Given the description of an element on the screen output the (x, y) to click on. 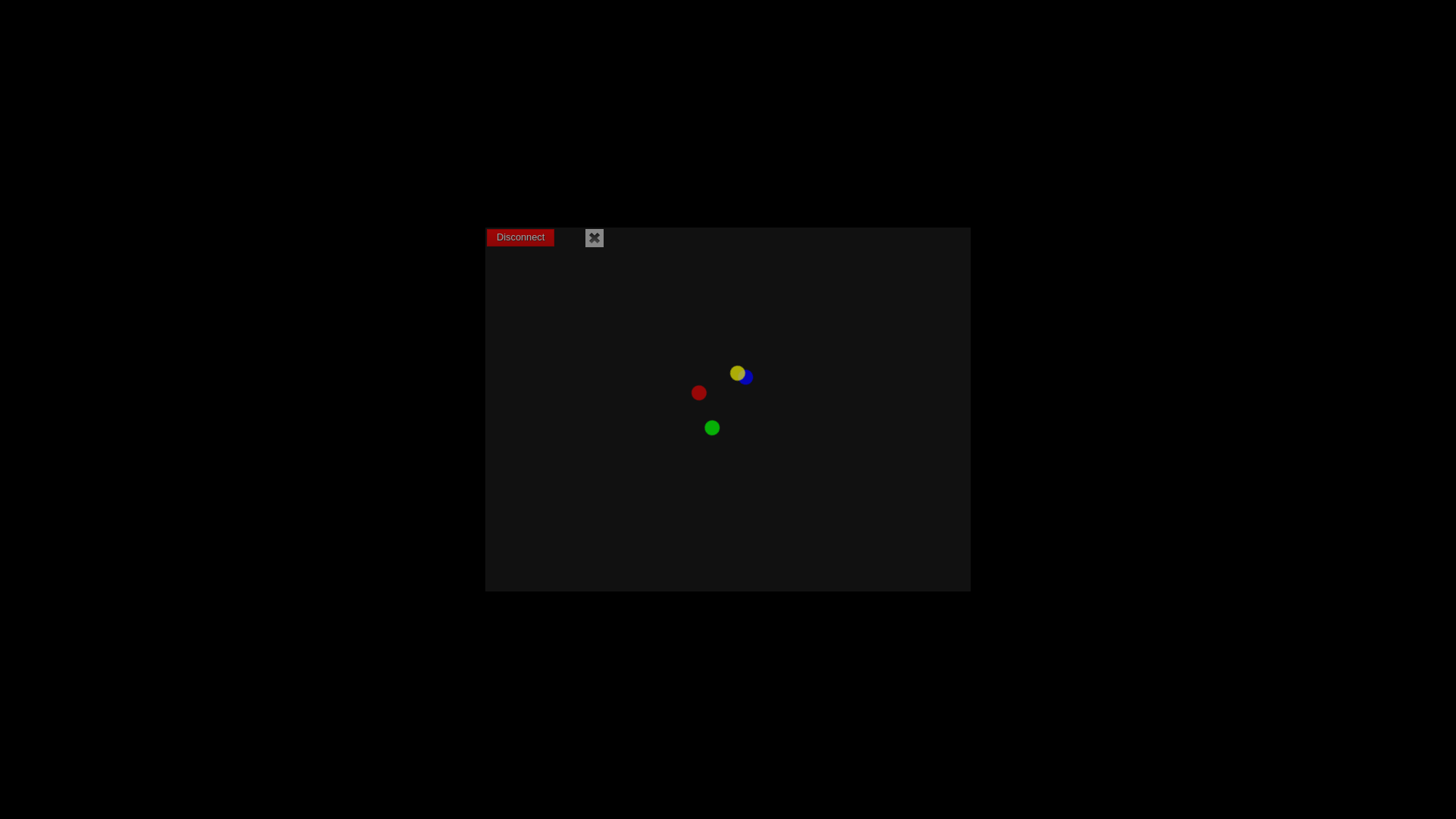
Disconnect Element type: text (520, 237)
Hide local video Element type: hover (594, 238)
